Given the description of an element on the screen output the (x, y) to click on. 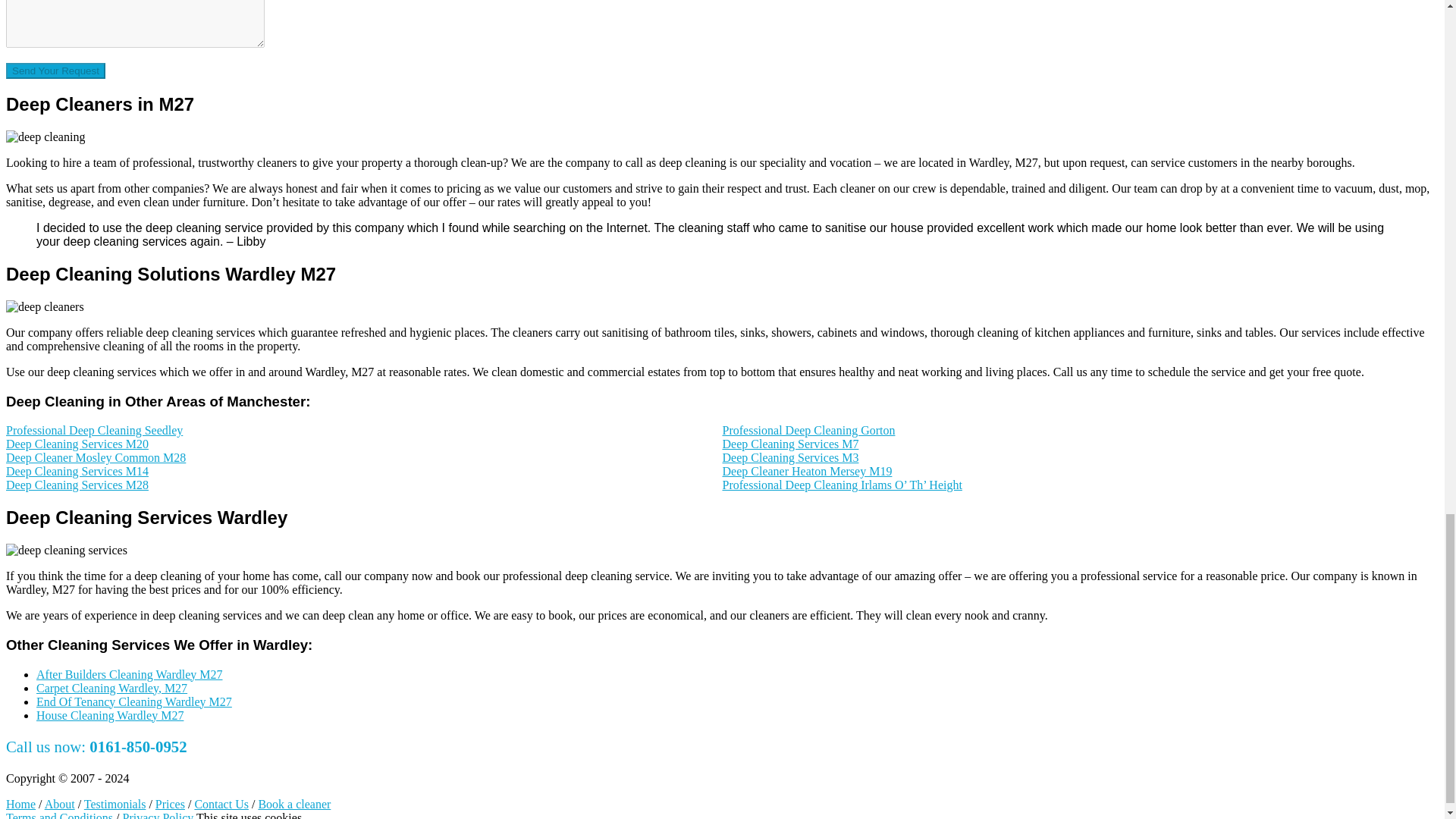
Professional Deep Cleaning Gorton (808, 430)
Deep Cleaning Services M20 (76, 443)
Professional Deep Cleaning Seedley (94, 430)
Deep Cleaning Services M14  (76, 471)
Send Your Request (54, 70)
Home (19, 803)
Deep Cleaner Mosley Common M28 (95, 457)
Professional Deep Cleaning Seedley (94, 430)
Send Your Request (54, 70)
End Of Tenancy Cleaning Wardley M27 (133, 700)
Deep Cleaner Heaton Mersey M19 (806, 471)
House Cleaning Wardley M27 (109, 714)
Deep Cleaning Services M28 (76, 484)
Deep Cleaning Services M20  (76, 443)
Deep Cleaning Services M28  (76, 484)
